Given the description of an element on the screen output the (x, y) to click on. 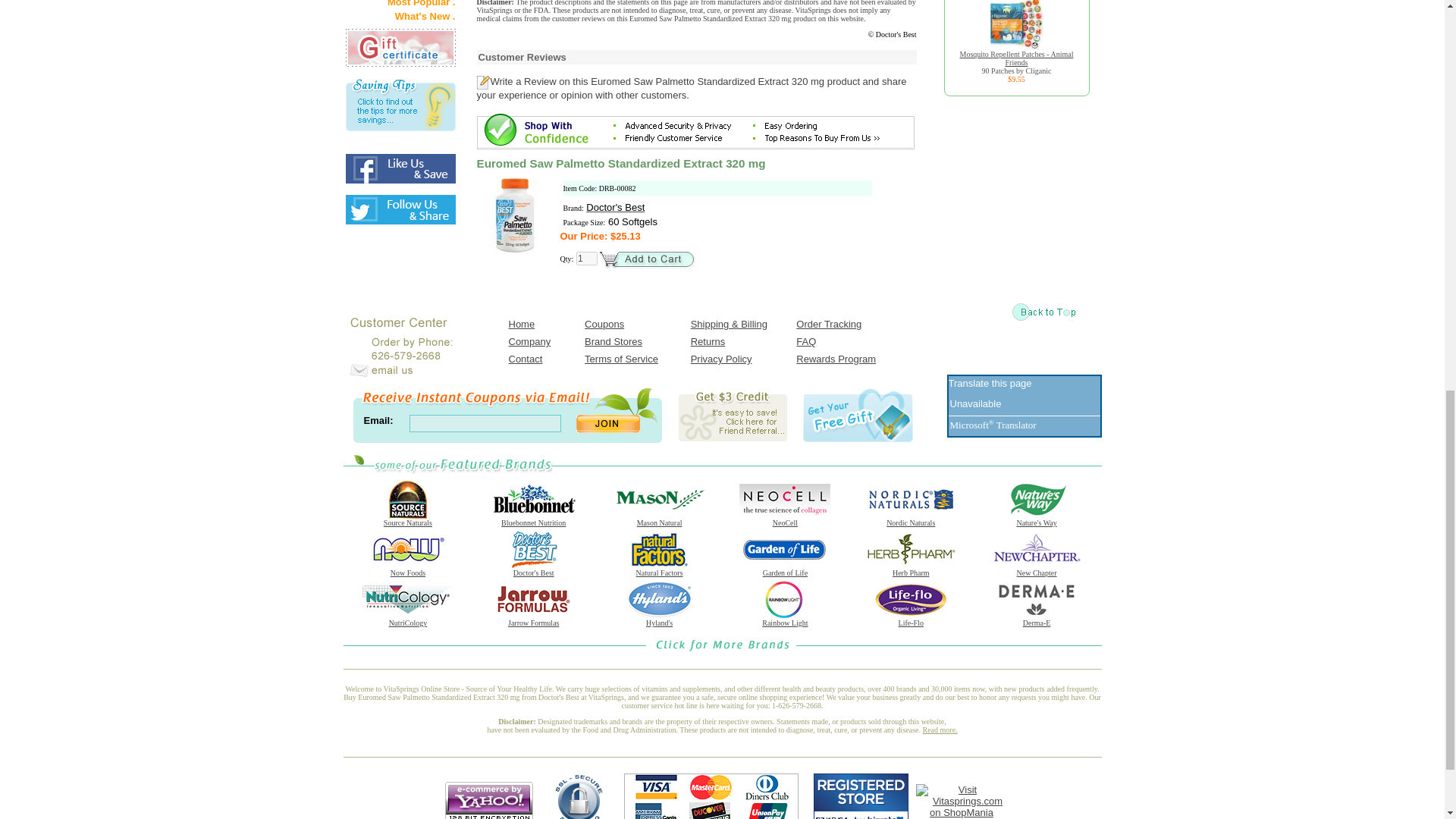
End of support for Translator web widget (975, 404)
Visit Vitasprings.com on ShopMania (961, 812)
1 (586, 258)
